Given the description of an element on the screen output the (x, y) to click on. 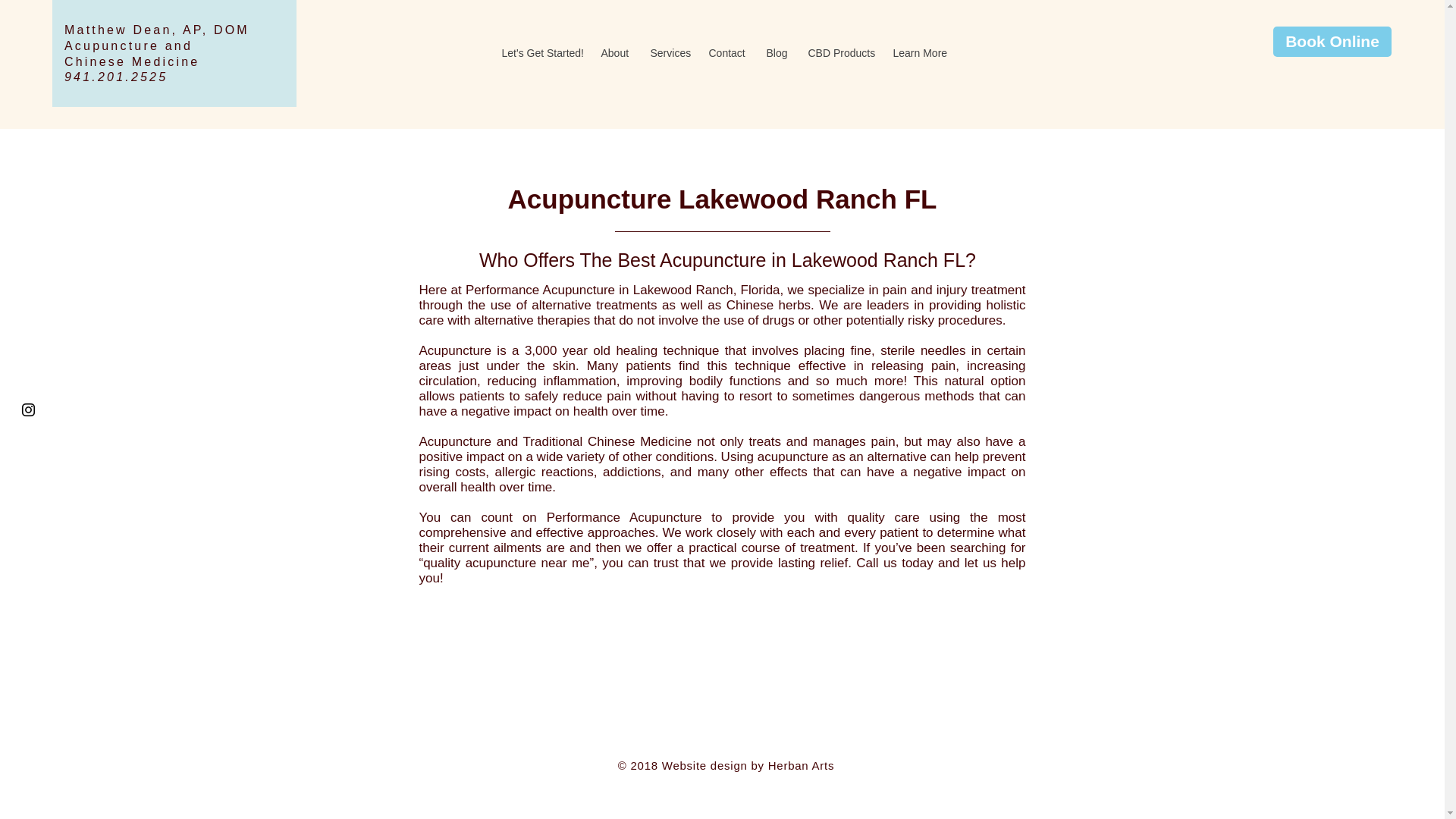
Acupuncture and Chinese  (128, 53)
Matthew Dean, AP, DOM (156, 29)
Contact (726, 52)
Let's Get Started! (539, 52)
Blog (775, 52)
CBD Products (838, 52)
Services (668, 52)
Book Online (1331, 41)
About (614, 52)
